Given the description of an element on the screen output the (x, y) to click on. 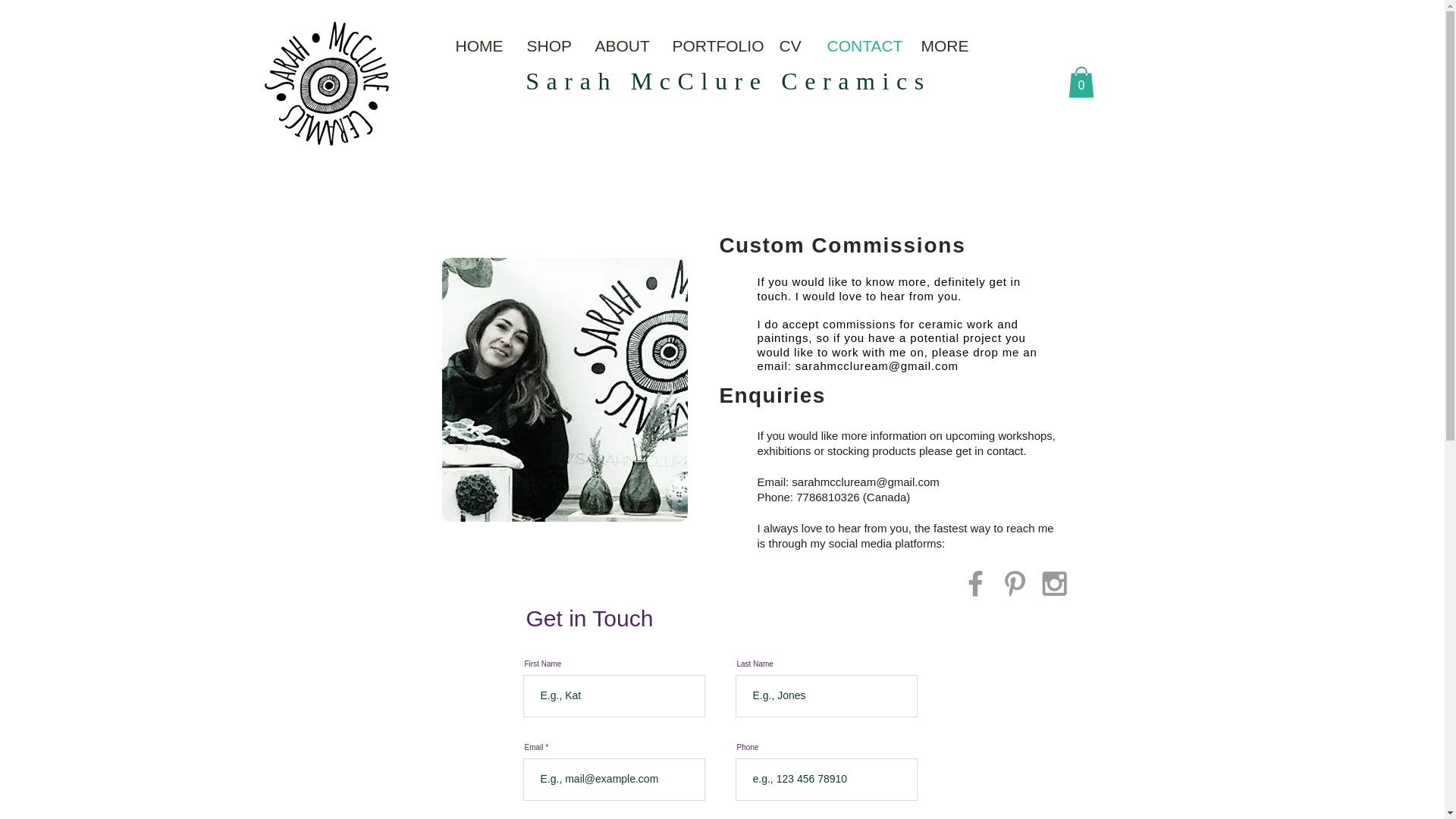
CV (791, 46)
CONTACT (862, 46)
ABOUT (622, 46)
HOME (479, 46)
SHOP (549, 46)
PORTFOLIO (714, 46)
